Given the description of an element on the screen output the (x, y) to click on. 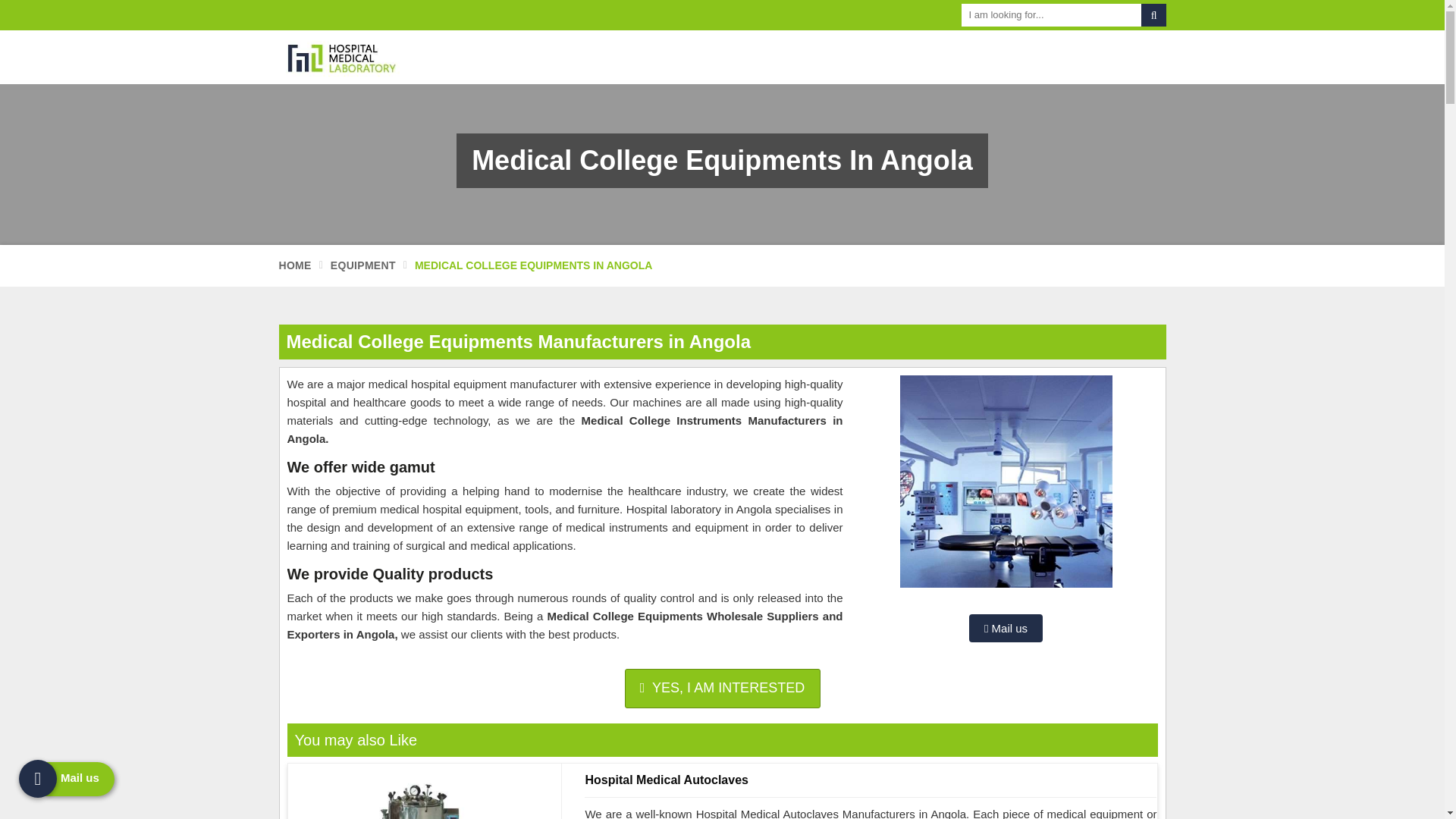
Hospital Medical Autoclaves (419, 796)
Mail us (1005, 628)
 Medical College Equipment Manufacturers in Angola (1005, 488)
YES, I AM INTERESTED (722, 688)
Equipment (363, 265)
Mail us (1005, 628)
Hospital Medical Laboratory (349, 57)
 Medical College Equipment Manufacturers in Angola (1005, 481)
Hospital Medical Laboratory (381, 57)
EQUIPMENT (363, 265)
Hospital Medical Autoclaves (870, 780)
 Hospital Medical Autoclaves Manufacturers in Angola (418, 796)
Mail us (722, 688)
Hospital Medical Autoclaves (870, 780)
